Given the description of an element on the screen output the (x, y) to click on. 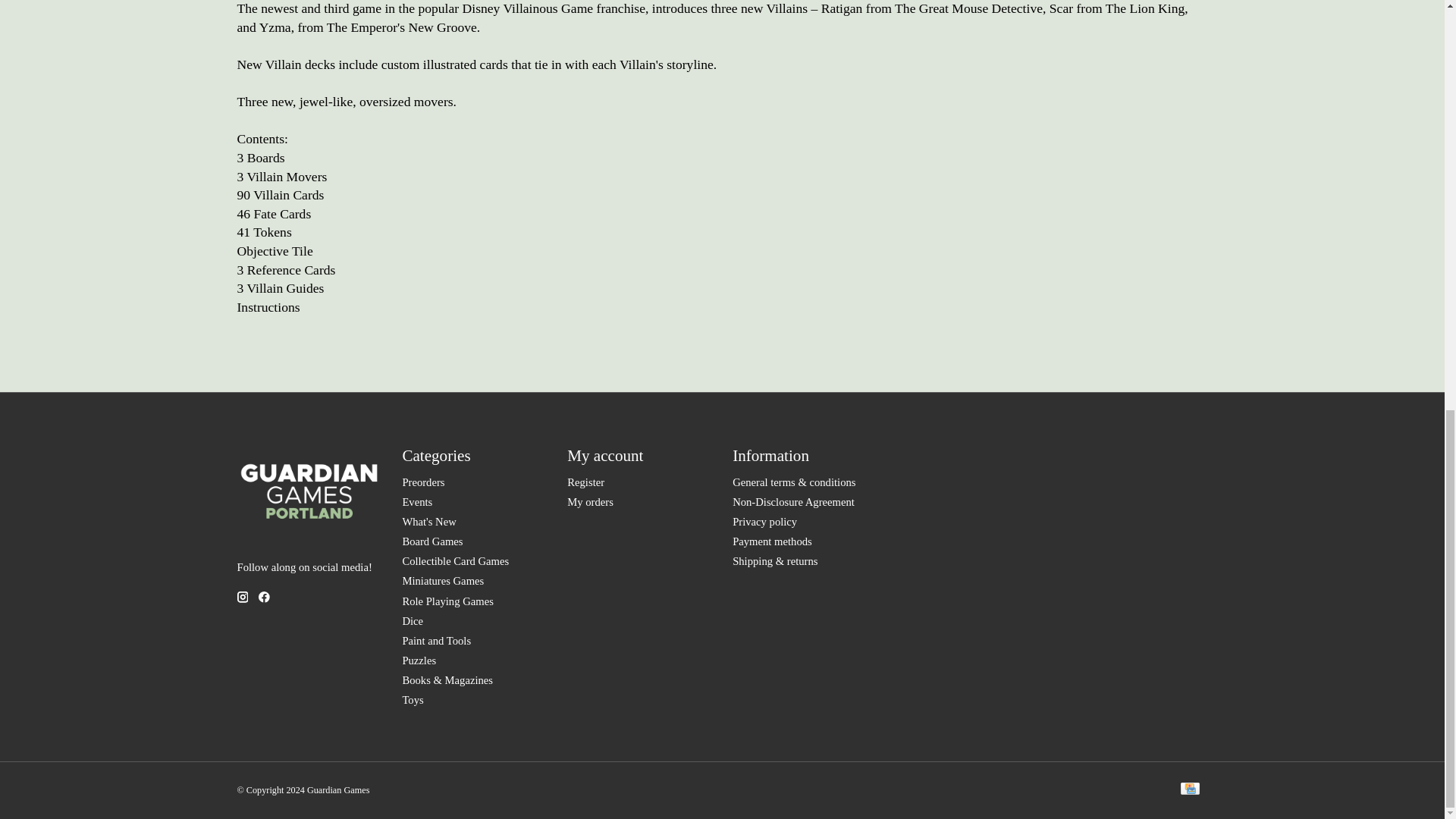
Privacy policy (764, 521)
Payment methods (772, 541)
Credit Card (1188, 789)
My orders (589, 501)
Non-Disclosure Agreement (793, 501)
Register (585, 481)
